Given the description of an element on the screen output the (x, y) to click on. 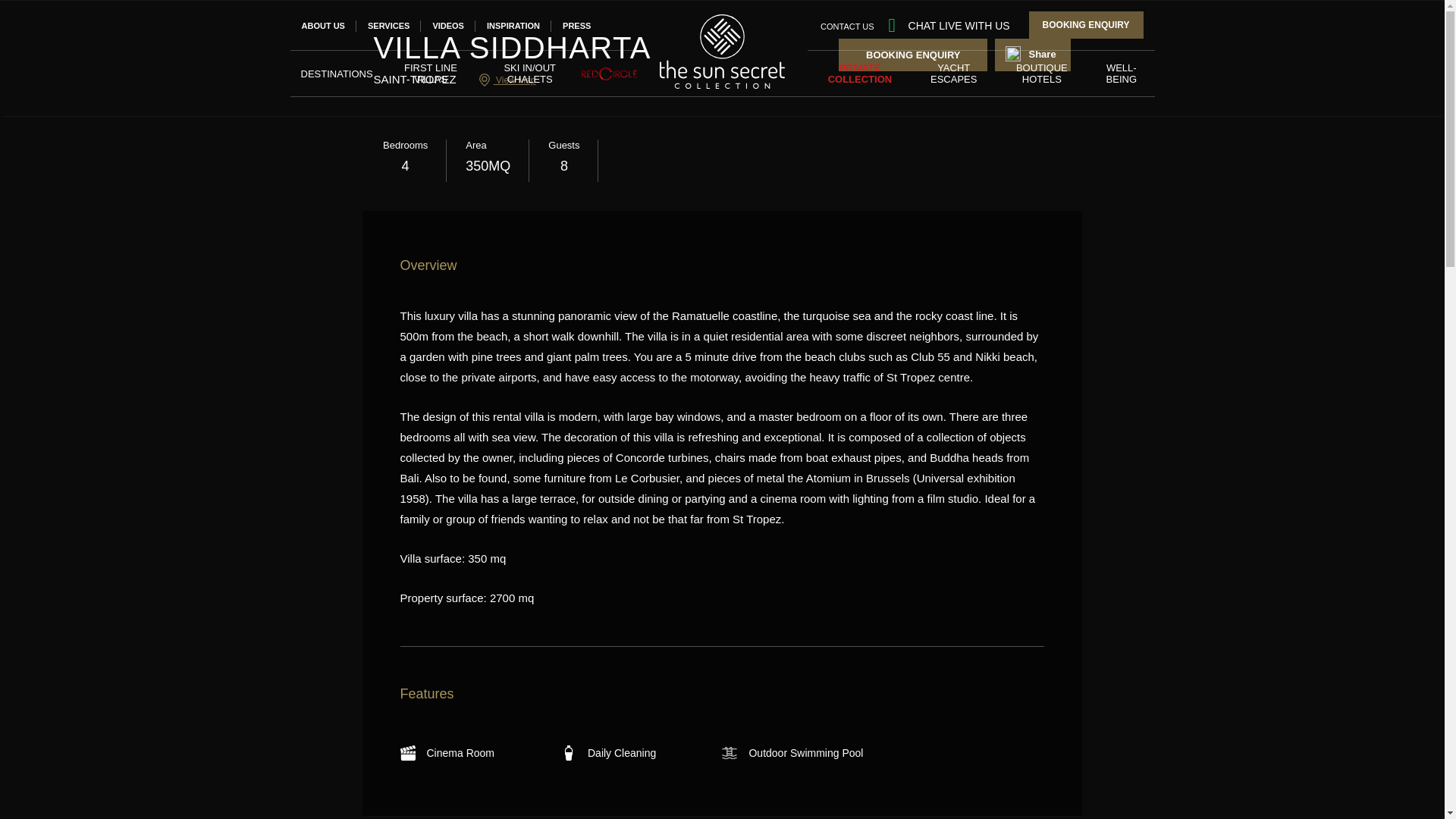
BOUTIQUE HOTELS (1041, 73)
CONTACT US (848, 25)
DESTINATIONS (335, 73)
PRIVATE COLLECTION (860, 73)
PRESS (576, 25)
BOOKING ENQUIRY (1085, 24)
SERVICES (388, 25)
ABOUT US (323, 25)
FIRST LINE VILLAS (431, 73)
VIDEOS (448, 25)
YACHT ESCAPES (953, 73)
INSPIRATION (513, 25)
